Given the description of an element on the screen output the (x, y) to click on. 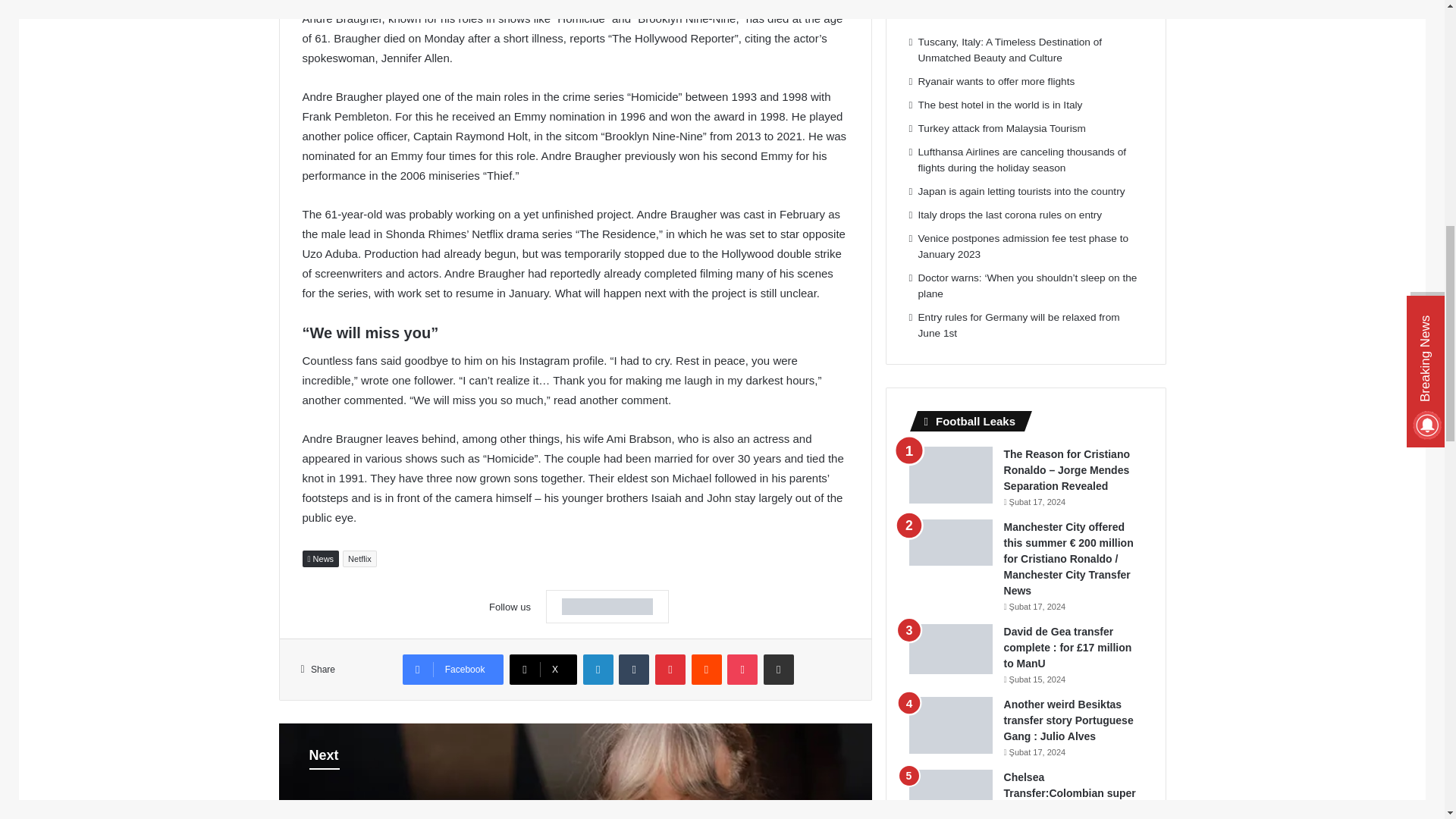
LinkedIn (597, 669)
Facebook (453, 669)
Tumblr (633, 669)
Pocket (741, 669)
Pinterest (670, 669)
X (542, 669)
Google News (607, 606)
Reddit (706, 669)
